Given the description of an element on the screen output the (x, y) to click on. 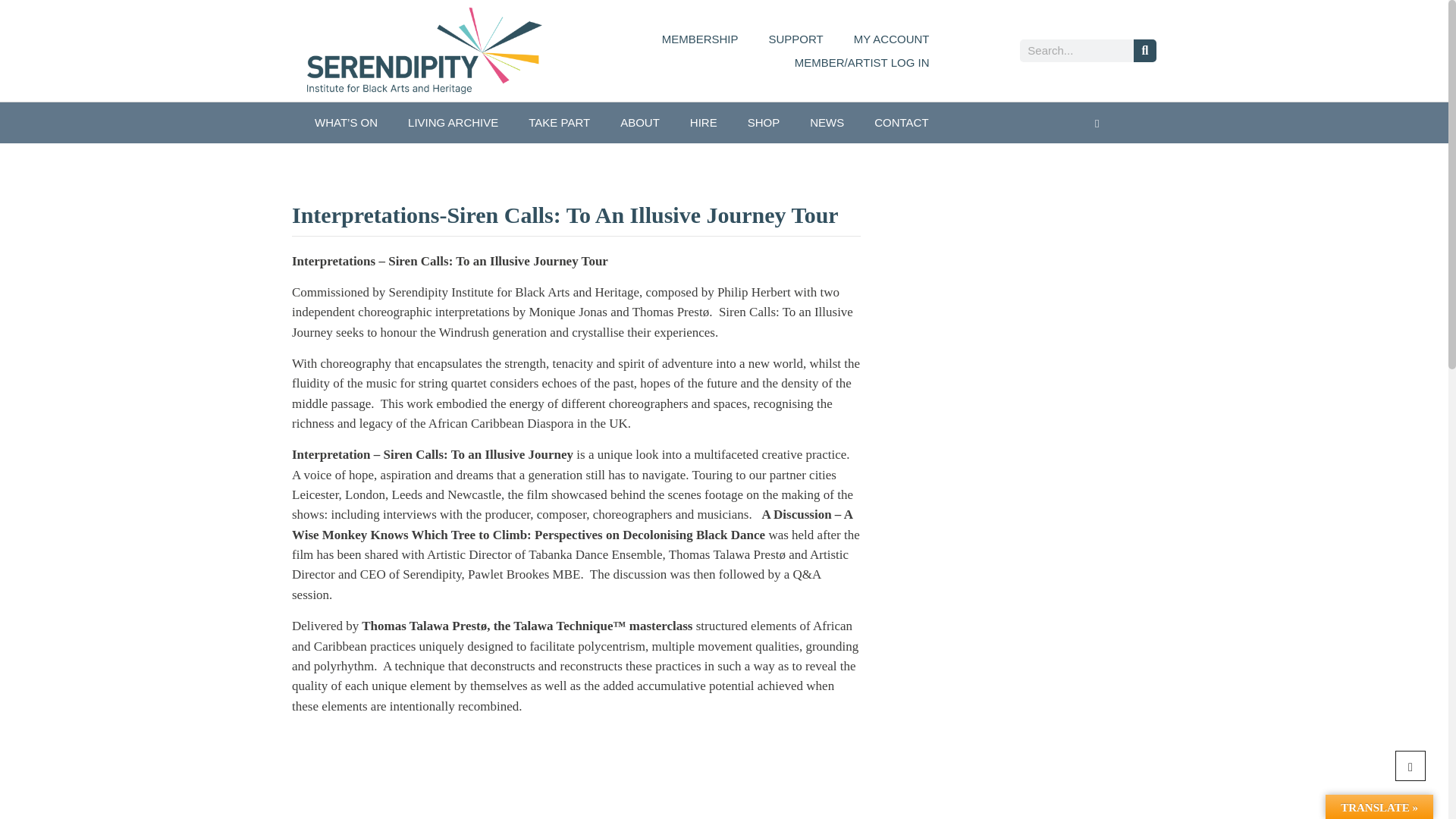
MY ACCOUNT (891, 38)
SUPPORT (796, 38)
MEMBERSHIP (700, 38)
Interpretations - Siren Calls: To an Illusive Journey (481, 773)
